Given the description of an element on the screen output the (x, y) to click on. 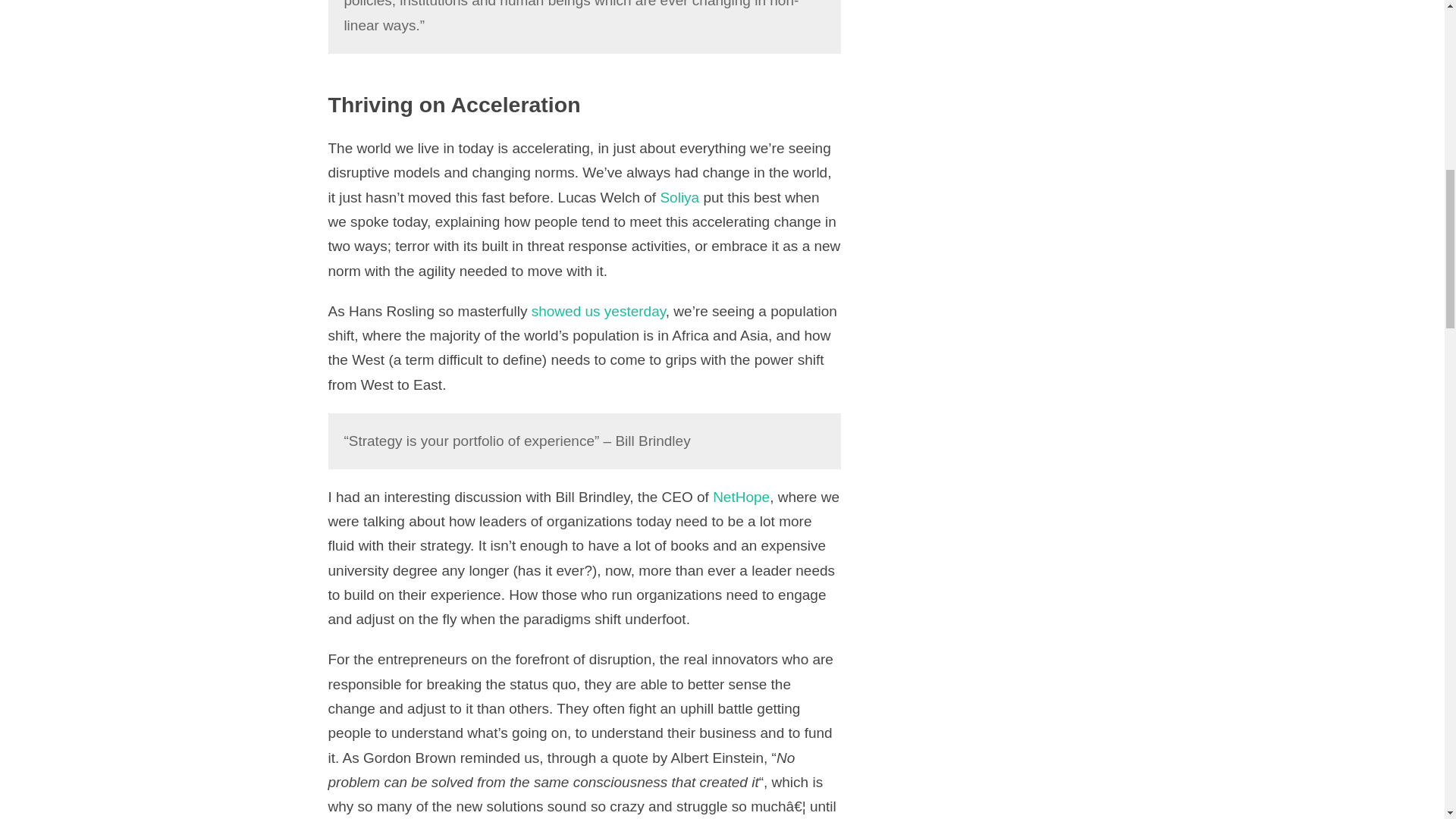
showed us yesterday (598, 311)
Soliya (678, 197)
NetHope (741, 496)
